Given the description of an element on the screen output the (x, y) to click on. 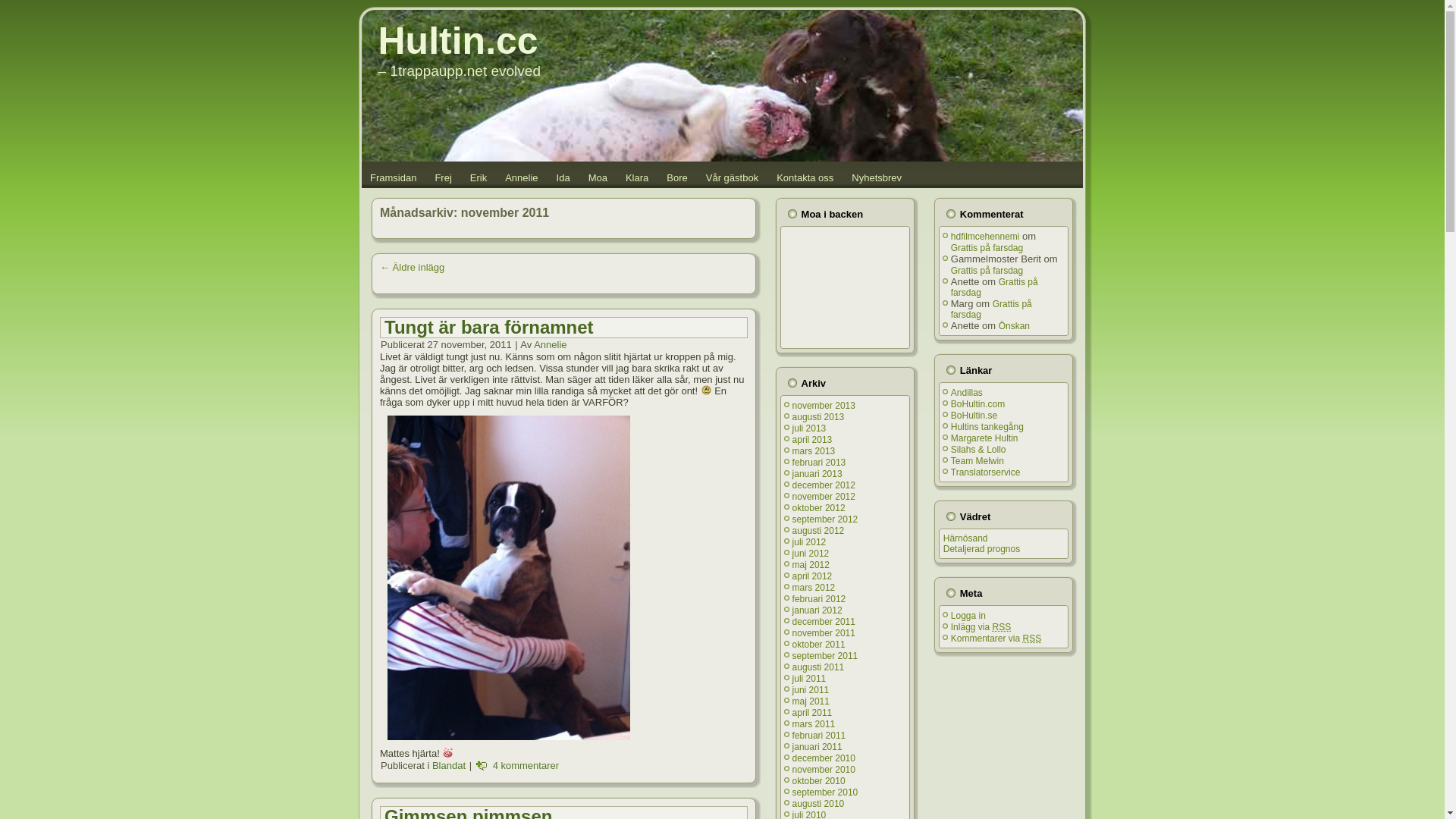
Bore Element type: text (676, 177)
juni 2011 Element type: text (810, 689)
Team Melwin Element type: text (977, 460)
mars 2011 Element type: text (813, 723)
Logga in Element type: text (967, 615)
februari 2013 Element type: text (819, 462)
Andillas Element type: text (966, 392)
Translatorservice Element type: text (985, 472)
Kontakta oss Element type: text (804, 177)
december 2010 Element type: text (823, 758)
Detaljerad prognos Element type: text (981, 548)
oktober 2011 Element type: text (818, 644)
juni 2012 Element type: text (810, 553)
Margarete Hultin Element type: text (984, 438)
september 2011 Element type: text (825, 655)
4 kommentarer Element type: text (525, 765)
december 2011 Element type: text (823, 621)
november 2013 Element type: text (823, 405)
november 2010 Element type: text (823, 769)
BoHultin.se Element type: text (973, 415)
januari 2013 Element type: text (817, 473)
Ida Element type: text (563, 177)
Moa Element type: text (597, 177)
januari 2011 Element type: text (817, 746)
april 2013 Element type: text (812, 439)
oktober 2010 Element type: text (818, 780)
pimmsing Element type: hover (508, 577)
augusti 2011 Element type: text (818, 667)
april 2011 Element type: text (812, 712)
Blandat Element type: text (448, 765)
mars 2013 Element type: text (813, 450)
november 2011 Element type: text (823, 632)
BoHultin.com Element type: text (977, 403)
Silahs & Lollo Element type: text (978, 449)
Nyhetsbrev Element type: text (876, 177)
september 2010 Element type: text (825, 792)
januari 2012 Element type: text (817, 610)
december 2012 Element type: text (823, 485)
september 2012 Element type: text (825, 519)
Frej Element type: text (442, 177)
november 2012 Element type: text (823, 496)
februari 2012 Element type: text (819, 598)
Klara Element type: text (636, 177)
oktober 2012 Element type: text (818, 507)
mars 2012 Element type: text (813, 587)
maj 2011 Element type: text (810, 701)
augusti 2012 Element type: text (818, 530)
Hultin.cc Element type: text (458, 40)
februari 2011 Element type: text (819, 735)
april 2012 Element type: text (812, 576)
juli 2011 Element type: text (809, 678)
maj 2012 Element type: text (810, 564)
hdfilmcehennemi Element type: text (984, 236)
Framsidan Element type: text (393, 177)
Annelie Element type: text (520, 177)
juli 2013 Element type: text (809, 428)
augusti 2013 Element type: text (818, 416)
Annelie Element type: text (549, 344)
Erik Element type: text (478, 177)
juli 2012 Element type: text (809, 541)
augusti 2010 Element type: text (818, 803)
Kommentarer via RSS Element type: text (995, 638)
